Given the description of an element on the screen output the (x, y) to click on. 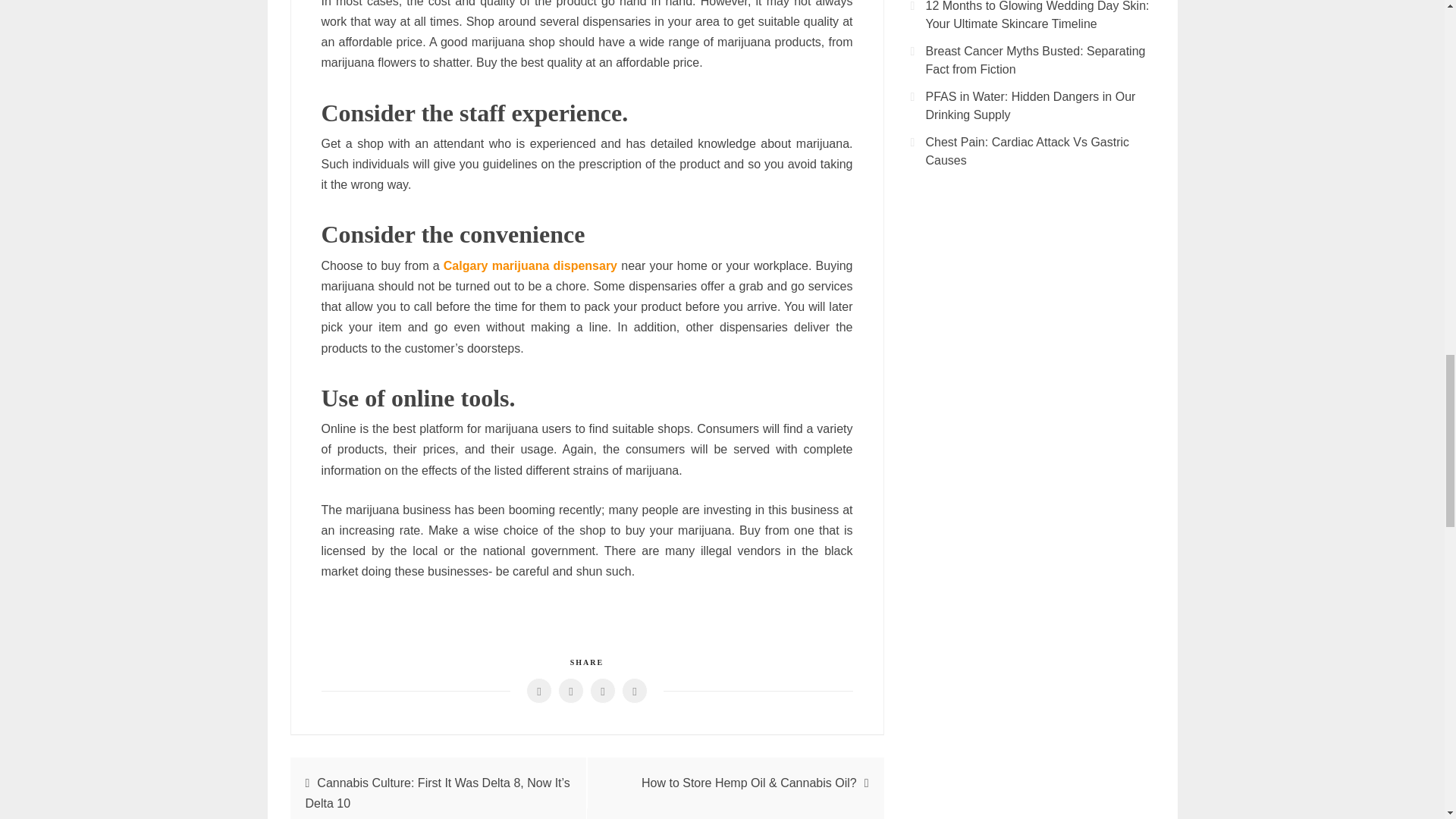
Calgary marijuana dispensary (530, 265)
